Given the description of an element on the screen output the (x, y) to click on. 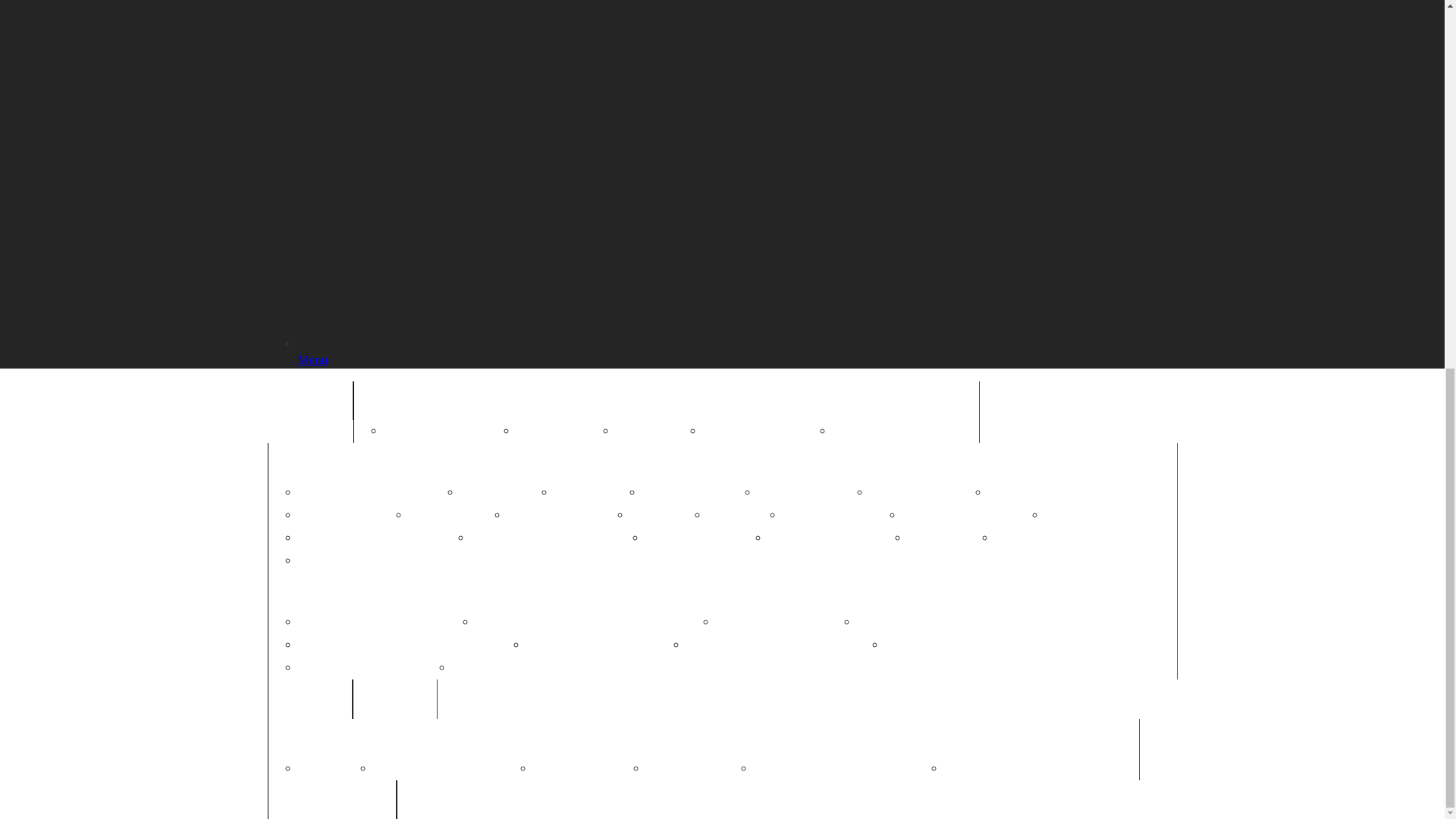
Business Planning (814, 492)
Recession Proof Your Business (558, 538)
Menu (736, 351)
NICHES (313, 591)
Insurances (745, 515)
Business Structures (929, 492)
Grow Your Business (569, 515)
Looking for a Career? (768, 431)
Tax Audits And Queries (838, 538)
Vehicle And Equipment Finance (1085, 538)
Bookkeeping (598, 492)
Succession Planning (707, 538)
ABOUT US (405, 400)
Staff Profiles (659, 431)
Our Office Sladen House (905, 431)
